Given the description of an element on the screen output the (x, y) to click on. 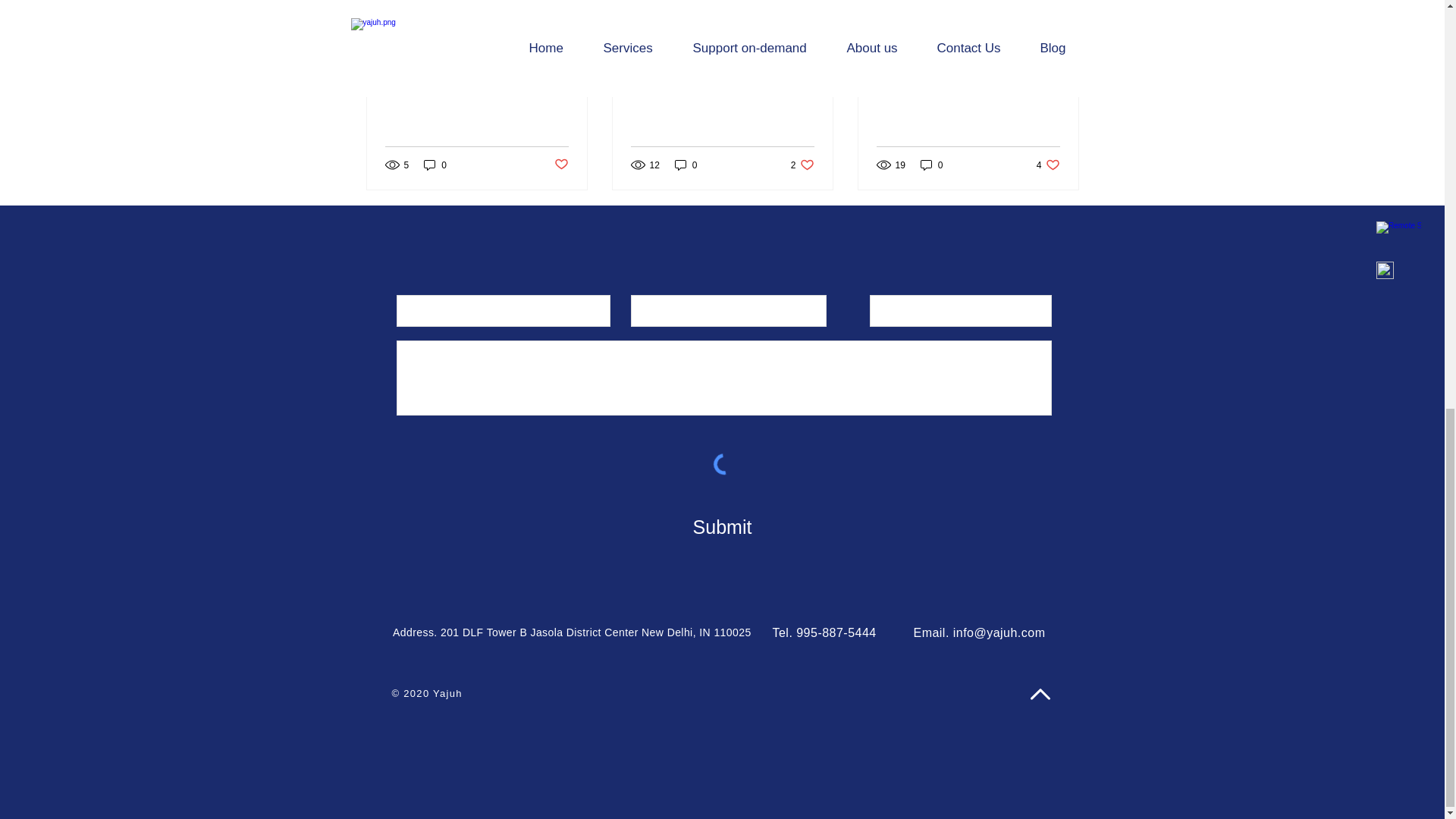
Submit (722, 527)
0 (931, 164)
0 (801, 164)
Post not marked as liked (1047, 164)
0 (435, 164)
How managed IT services add value to your business (560, 164)
